Given the description of an element on the screen output the (x, y) to click on. 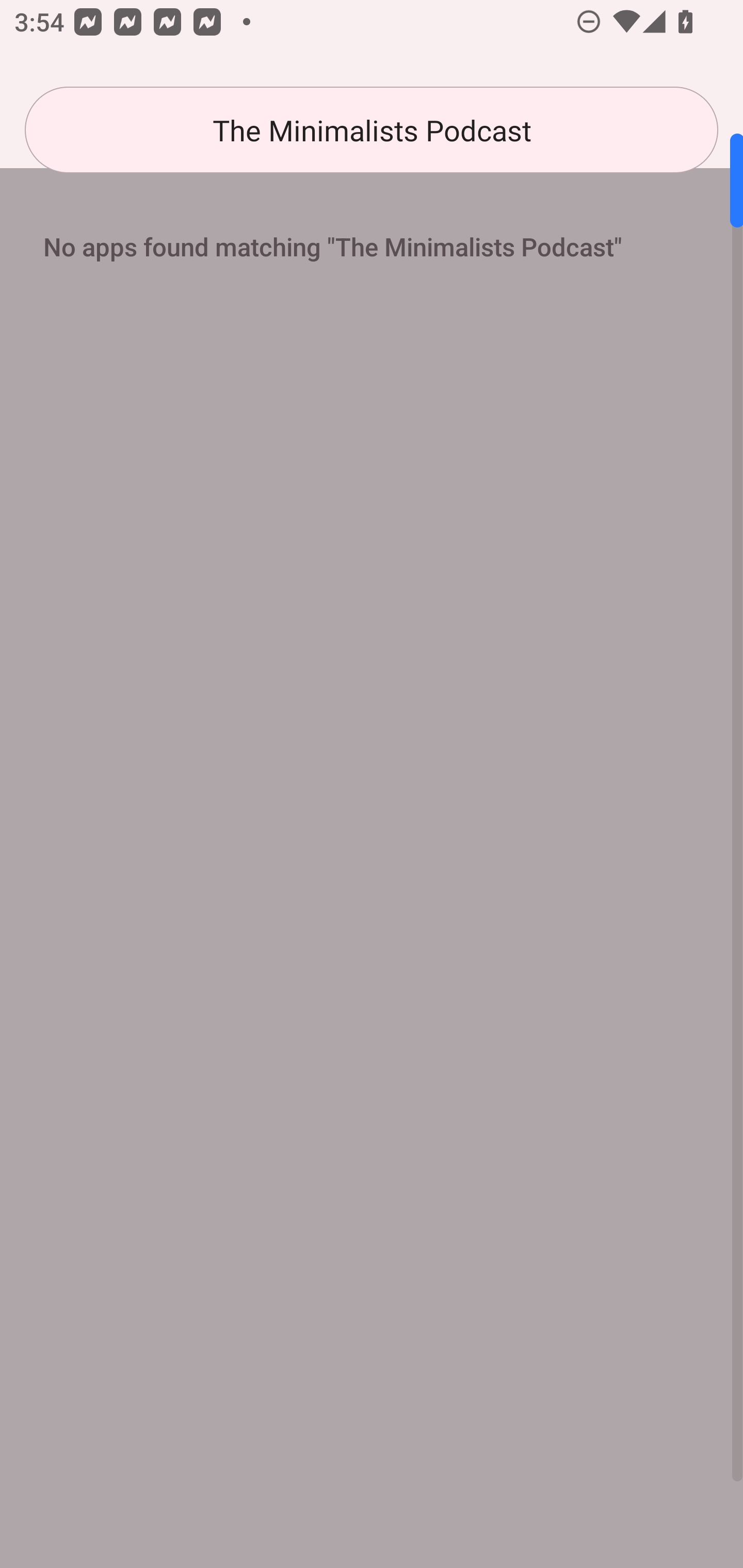
The Minimalists Podcast (371, 130)
